Given the description of an element on the screen output the (x, y) to click on. 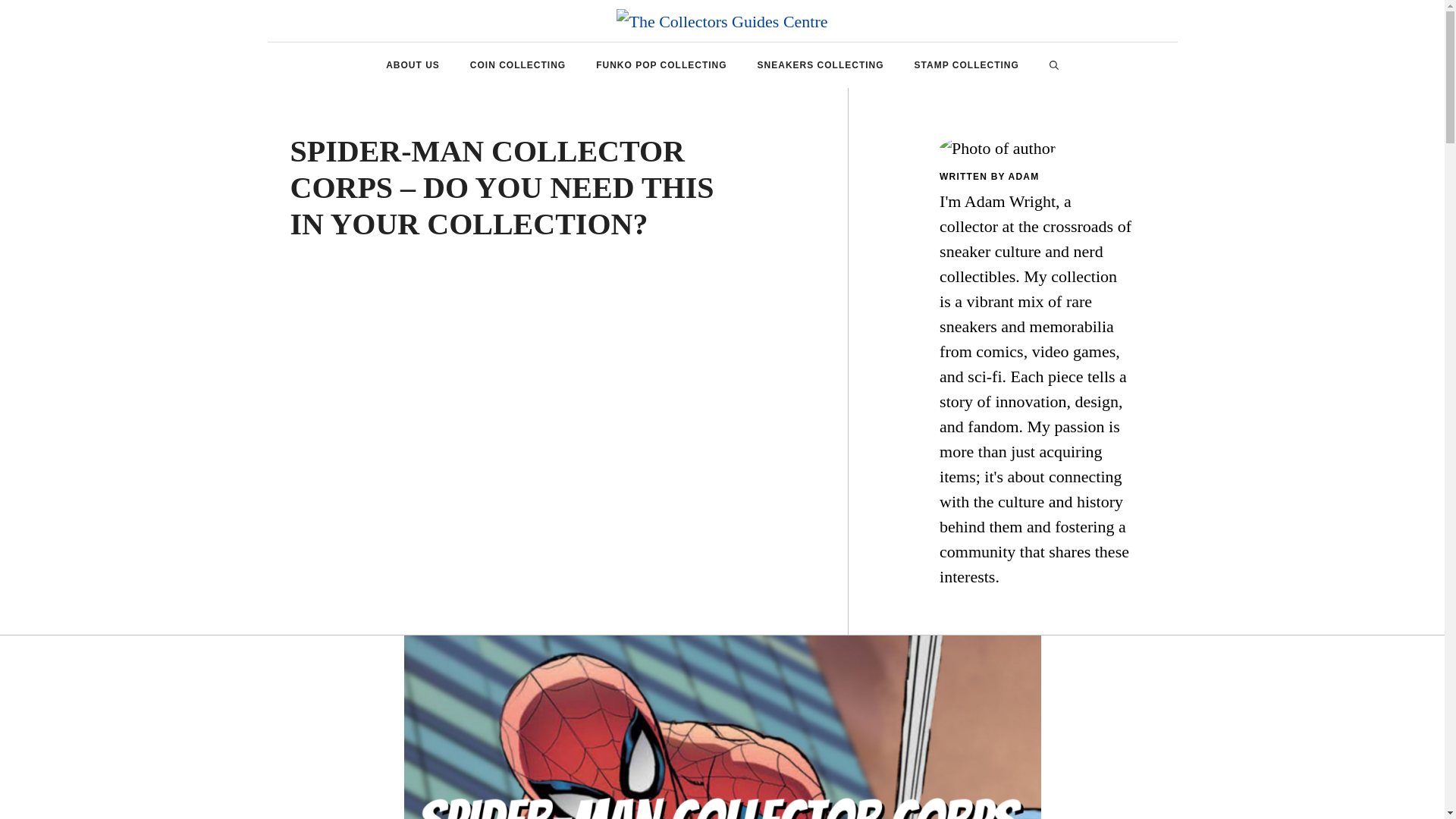
STAMP COLLECTING (966, 64)
COIN COLLECTING (517, 64)
FUNKO POP COLLECTING (660, 64)
ABOUT US (412, 64)
SNEAKERS COLLECTING (820, 64)
